Given the description of an element on the screen output the (x, y) to click on. 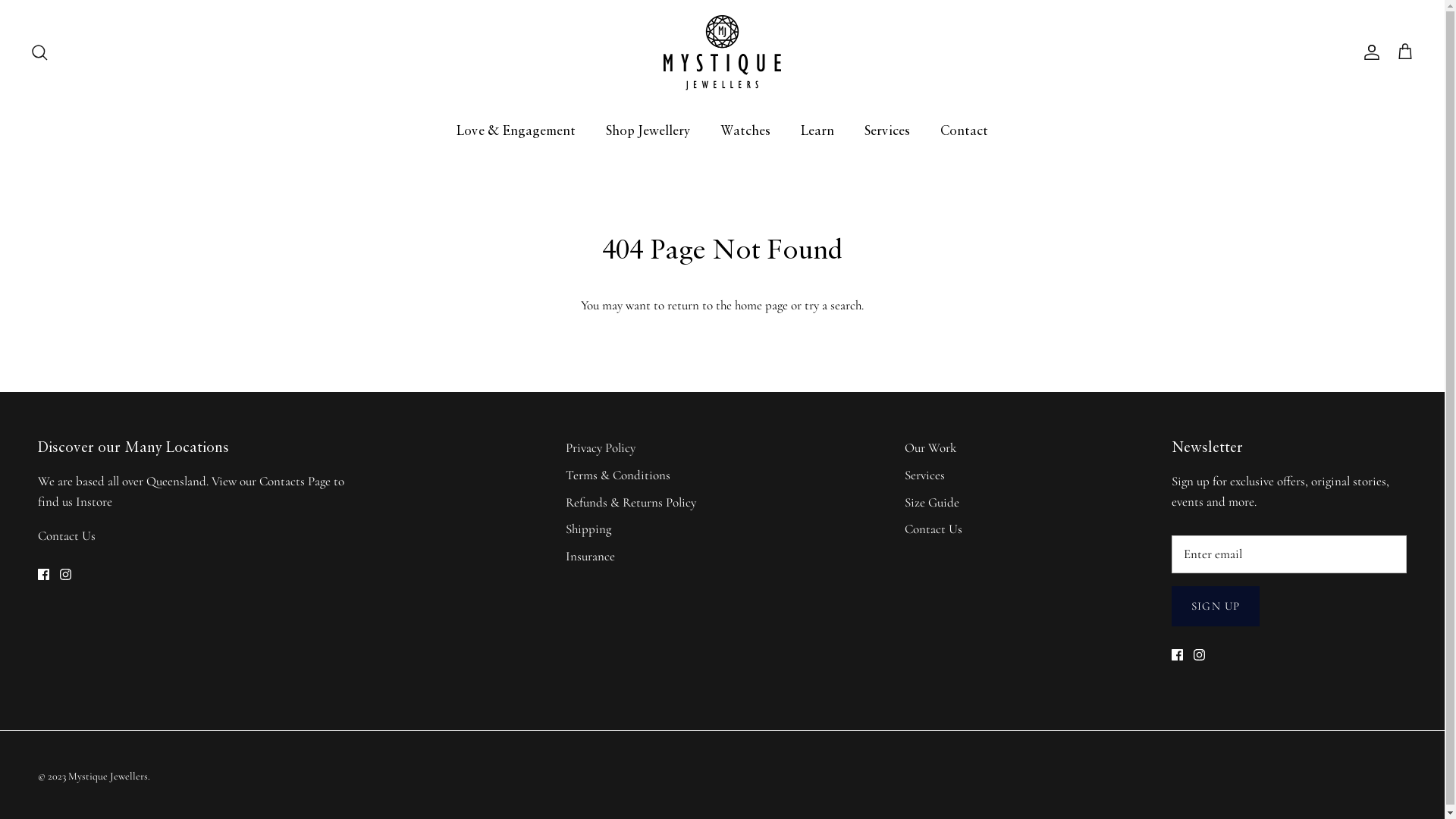
Watches Element type: text (745, 129)
Mystique Jewellers Element type: hover (722, 52)
Instagram Element type: text (65, 574)
home page Element type: text (760, 305)
Cart Element type: text (1405, 52)
Contact Element type: text (963, 129)
Learn Element type: text (817, 129)
Shipping Element type: text (588, 528)
Instagram Element type: text (1198, 654)
Shop Jewellery Element type: text (647, 129)
Size Guide Element type: text (931, 502)
Services Element type: text (924, 475)
Privacy Policy Element type: text (600, 447)
Refunds & Returns Policy Element type: text (630, 502)
Account Element type: text (1368, 52)
Facebook Element type: text (1177, 654)
try a search Element type: text (832, 305)
SIGN UP Element type: text (1215, 606)
Insurance Element type: text (590, 556)
Services Element type: text (886, 129)
Mystique Jewellers Element type: text (107, 775)
Love & Engagement Element type: text (515, 129)
Contact Us Element type: text (66, 535)
Search Element type: text (39, 52)
Terms & Conditions Element type: text (617, 475)
Our Work Element type: text (930, 447)
Contact Us Element type: text (933, 528)
Facebook Element type: text (43, 574)
